Given the description of an element on the screen output the (x, y) to click on. 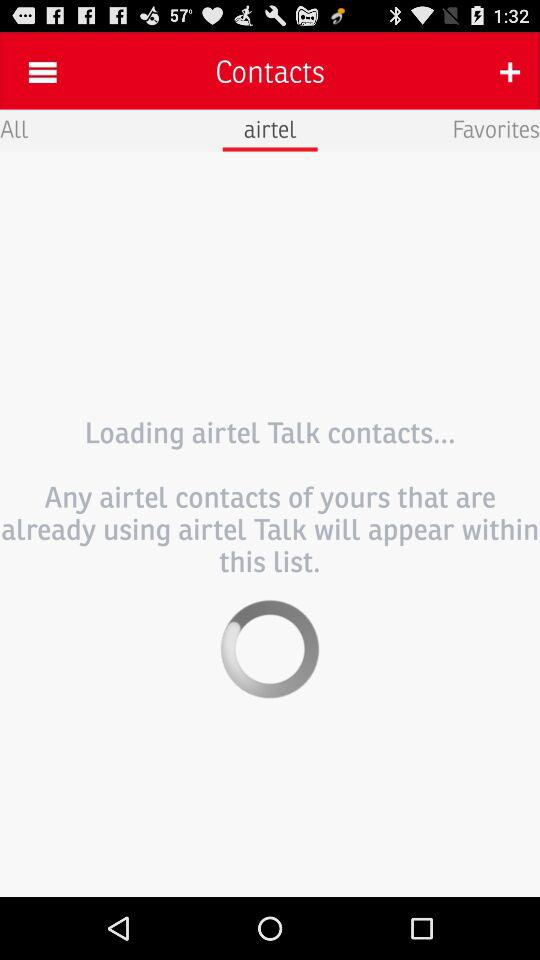
select the favorites icon (496, 128)
